Given the description of an element on the screen output the (x, y) to click on. 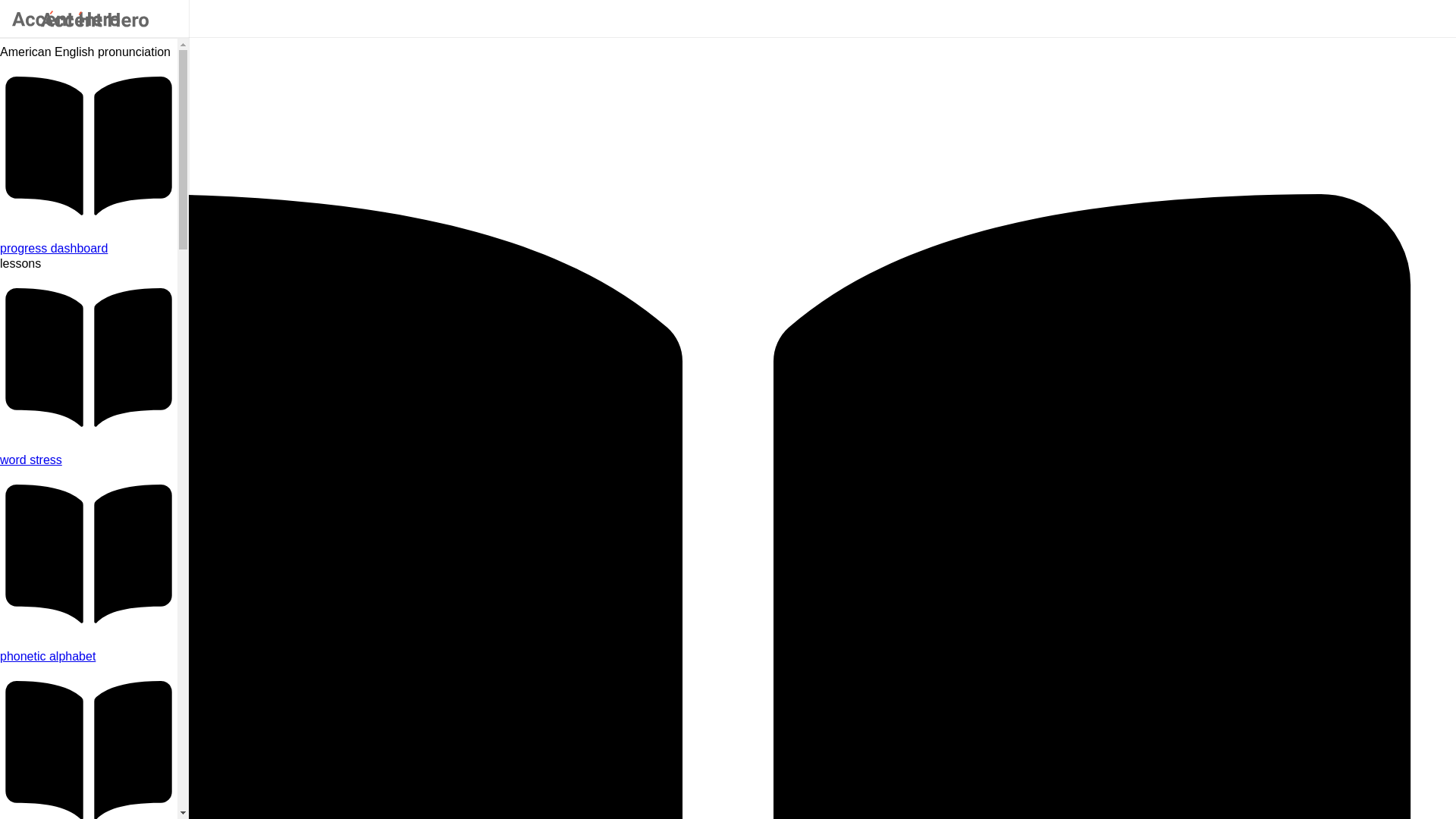
Learn to precisely articulate each sound (88, 656)
Learn how word stress influences your accent (88, 459)
